Given the description of an element on the screen output the (x, y) to click on. 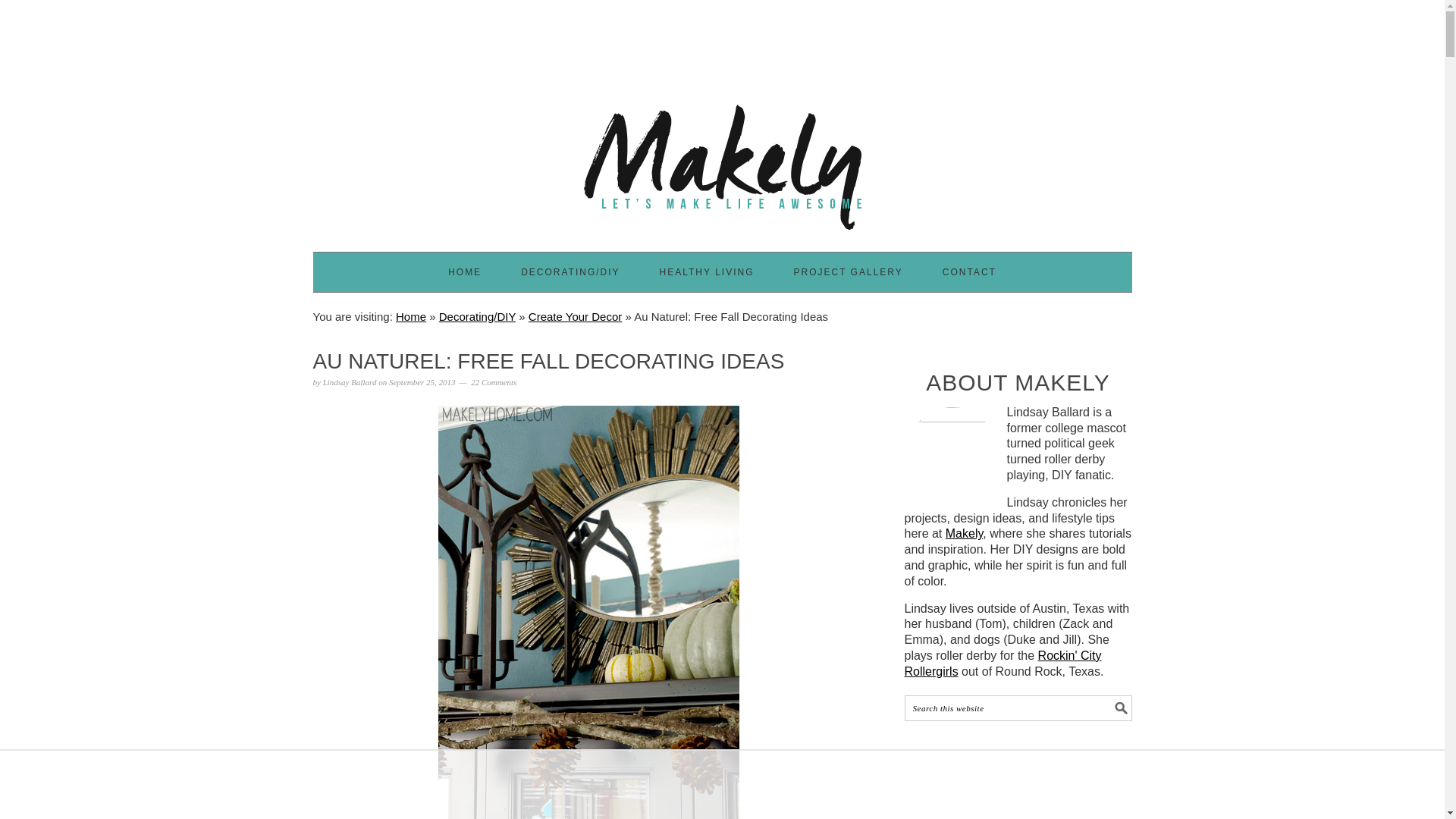
PROJECT GALLERY (847, 271)
22 Comments (493, 381)
Home (411, 316)
Lindsay Ballard (350, 381)
HEALTHY LIVING (706, 271)
CONTACT (968, 271)
HOME (464, 271)
Create Your Decor (574, 316)
MAKELY (722, 160)
